Given the description of an element on the screen output the (x, y) to click on. 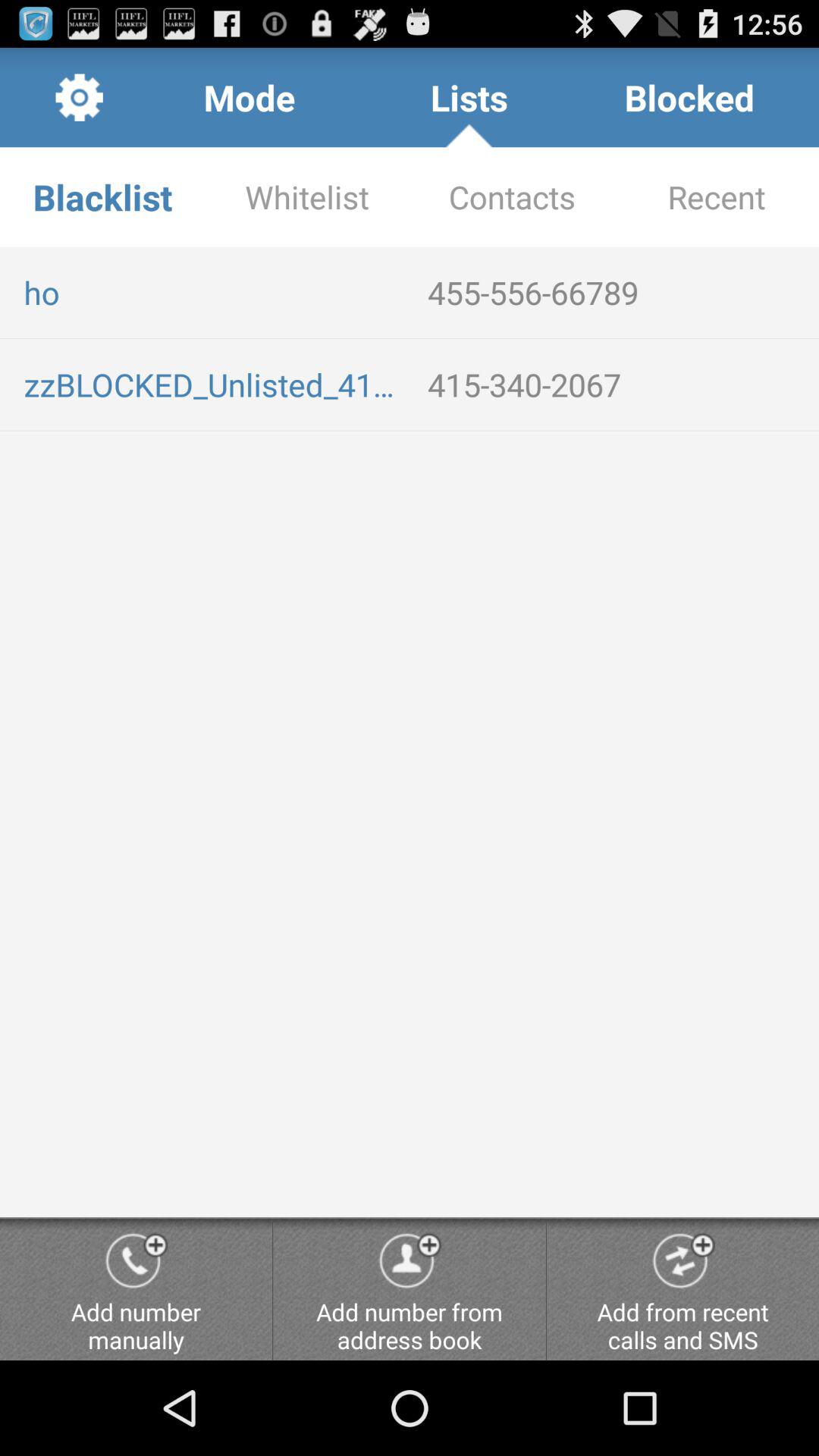
click the ho (213, 291)
